Given the description of an element on the screen output the (x, y) to click on. 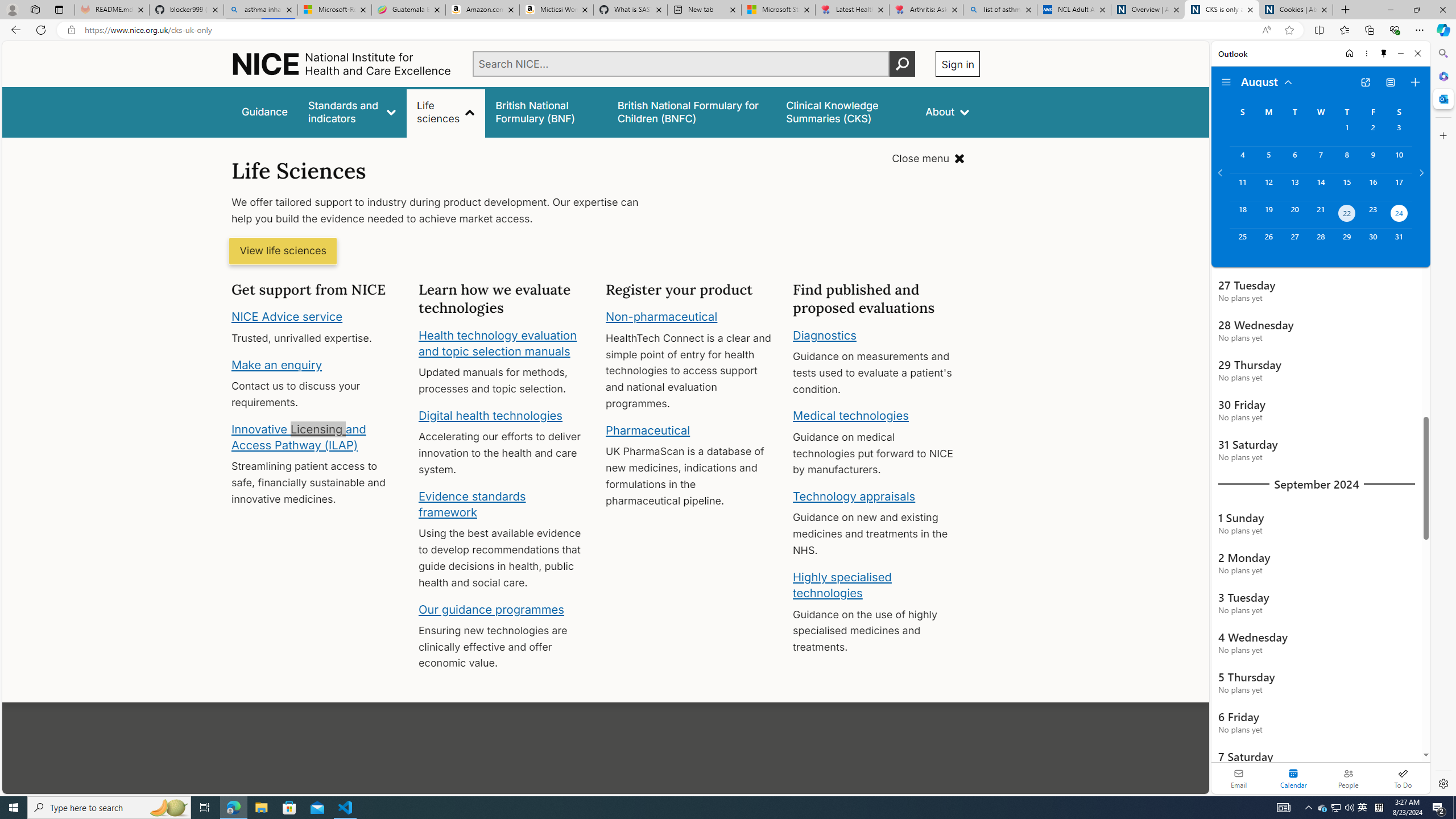
Email (1238, 777)
Wednesday, August 14, 2024.  (1320, 186)
August (1267, 80)
To Do (1402, 777)
Thursday, August 29, 2024.  (1346, 241)
Saturday, August 31, 2024.  (1399, 241)
